Given the description of an element on the screen output the (x, y) to click on. 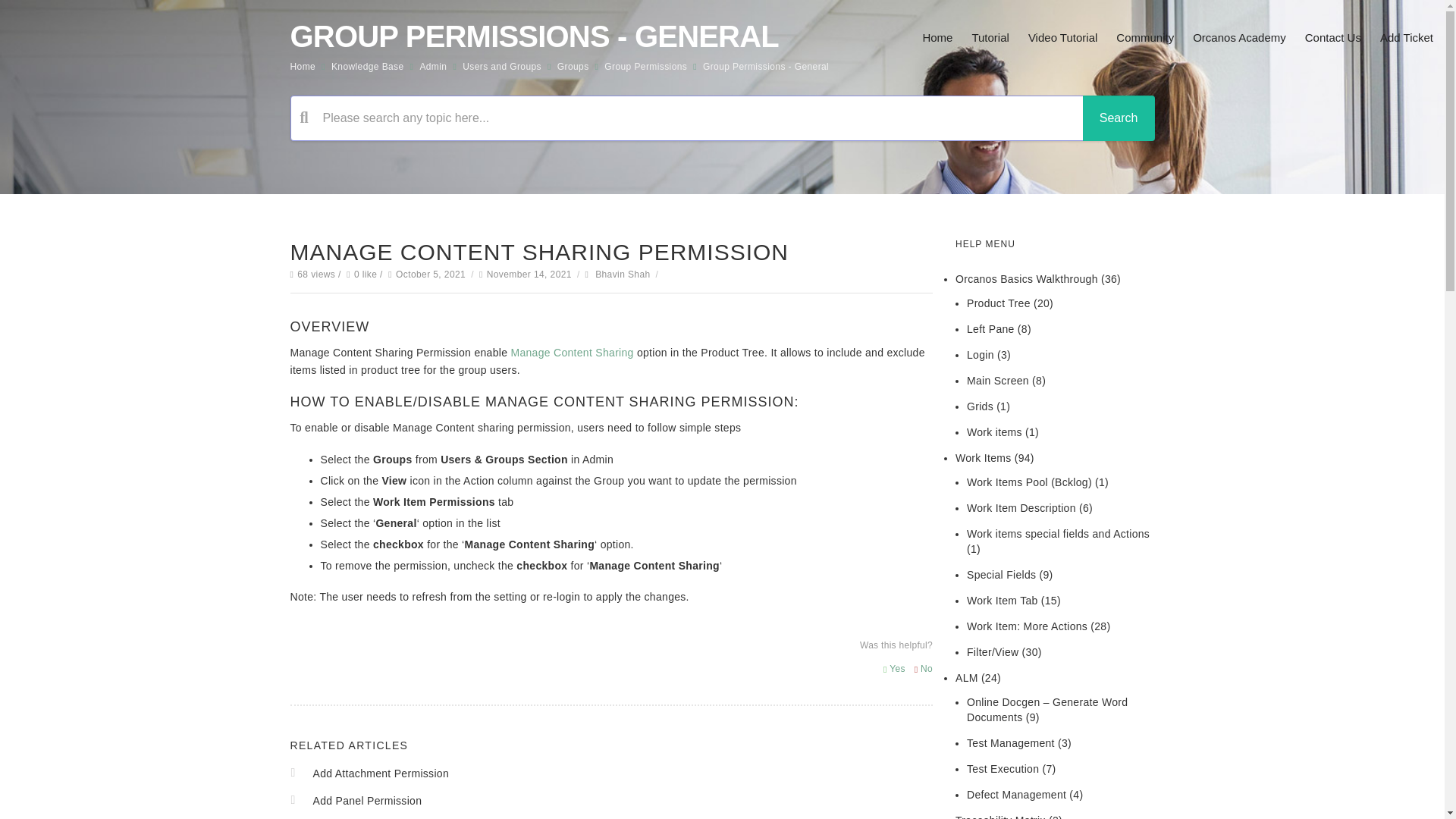
Search (1118, 117)
Tutorial (990, 37)
Orcanos Academy (1238, 37)
Add Attachment Permission (380, 773)
Search (1118, 117)
Video Tutorial (1062, 37)
Knowledge Base (367, 66)
Contact Us (1332, 37)
Home (936, 37)
Groups (573, 66)
